Given the description of an element on the screen output the (x, y) to click on. 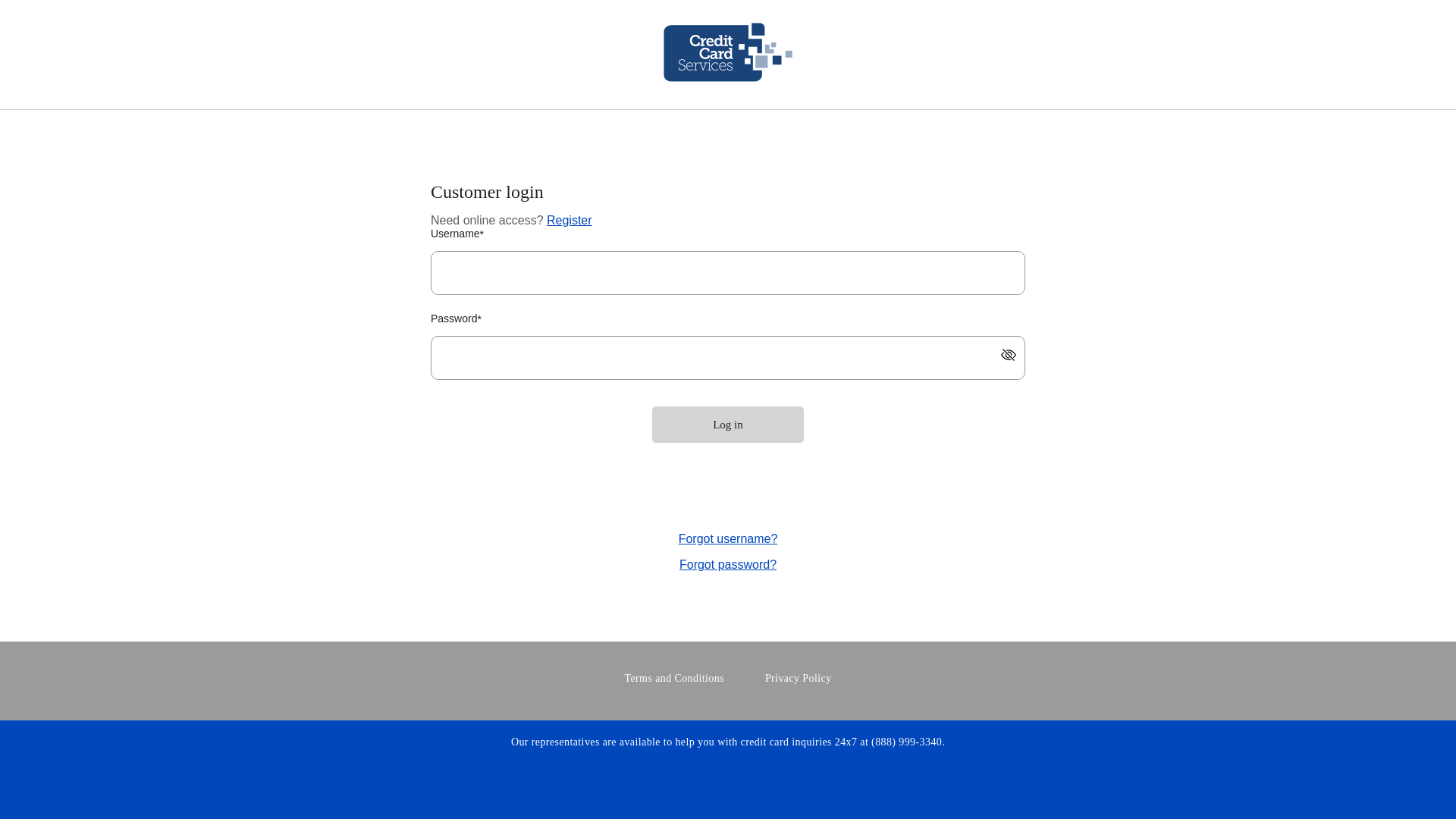
Log in Element type: text (727, 424)
Username Element type: hover (727, 272)
Password Element type: hover (727, 357)
Terms and Conditions Element type: text (673, 678)
Register Element type: text (569, 219)
Forgot username? Element type: text (727, 539)
Forgot password? Element type: text (727, 565)
Privacy Policy Element type: text (798, 678)
